Given the description of an element on the screen output the (x, y) to click on. 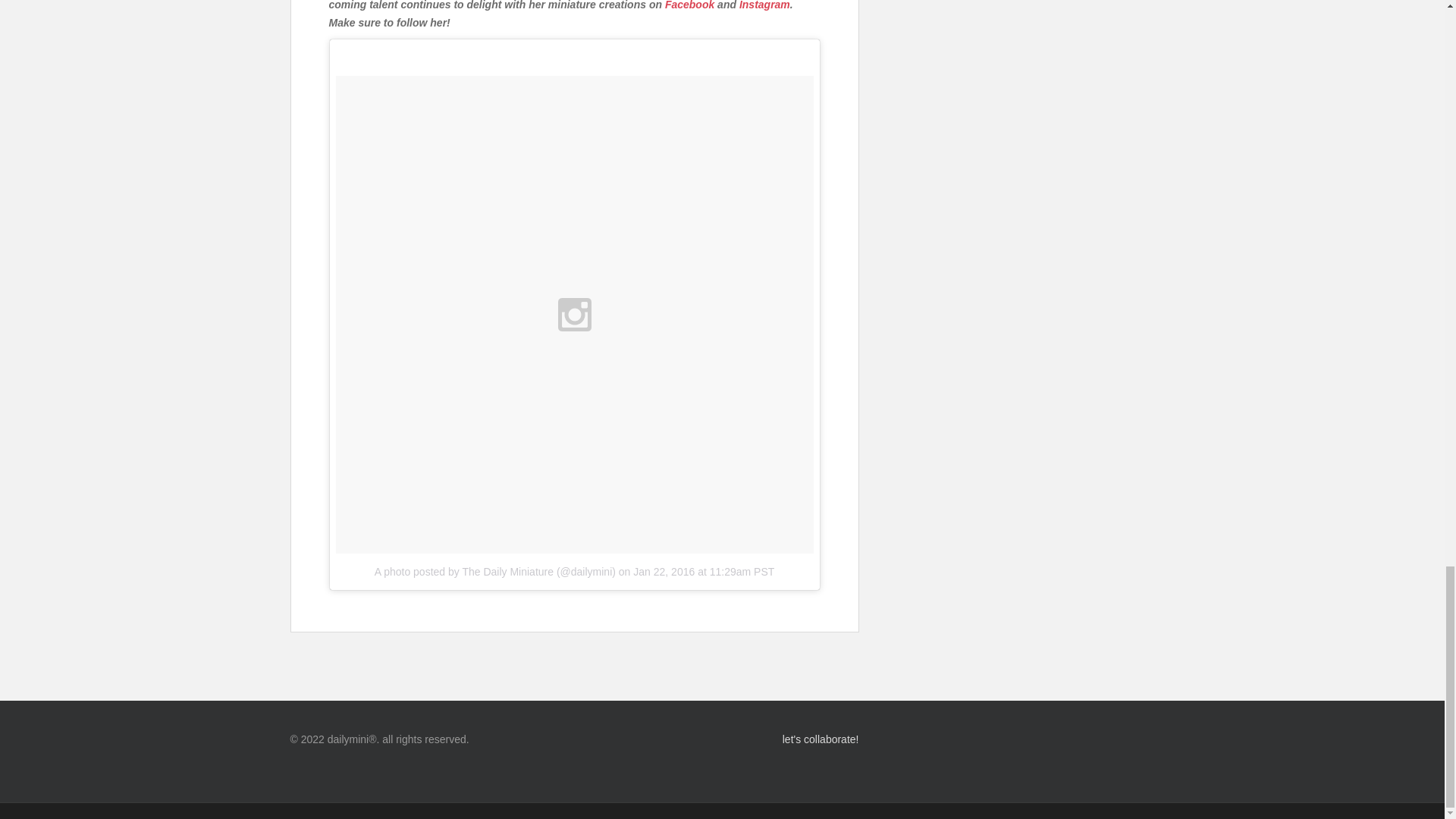
Instagram (764, 5)
Facebook (689, 5)
let's collaborate! (722, 740)
